Given the description of an element on the screen output the (x, y) to click on. 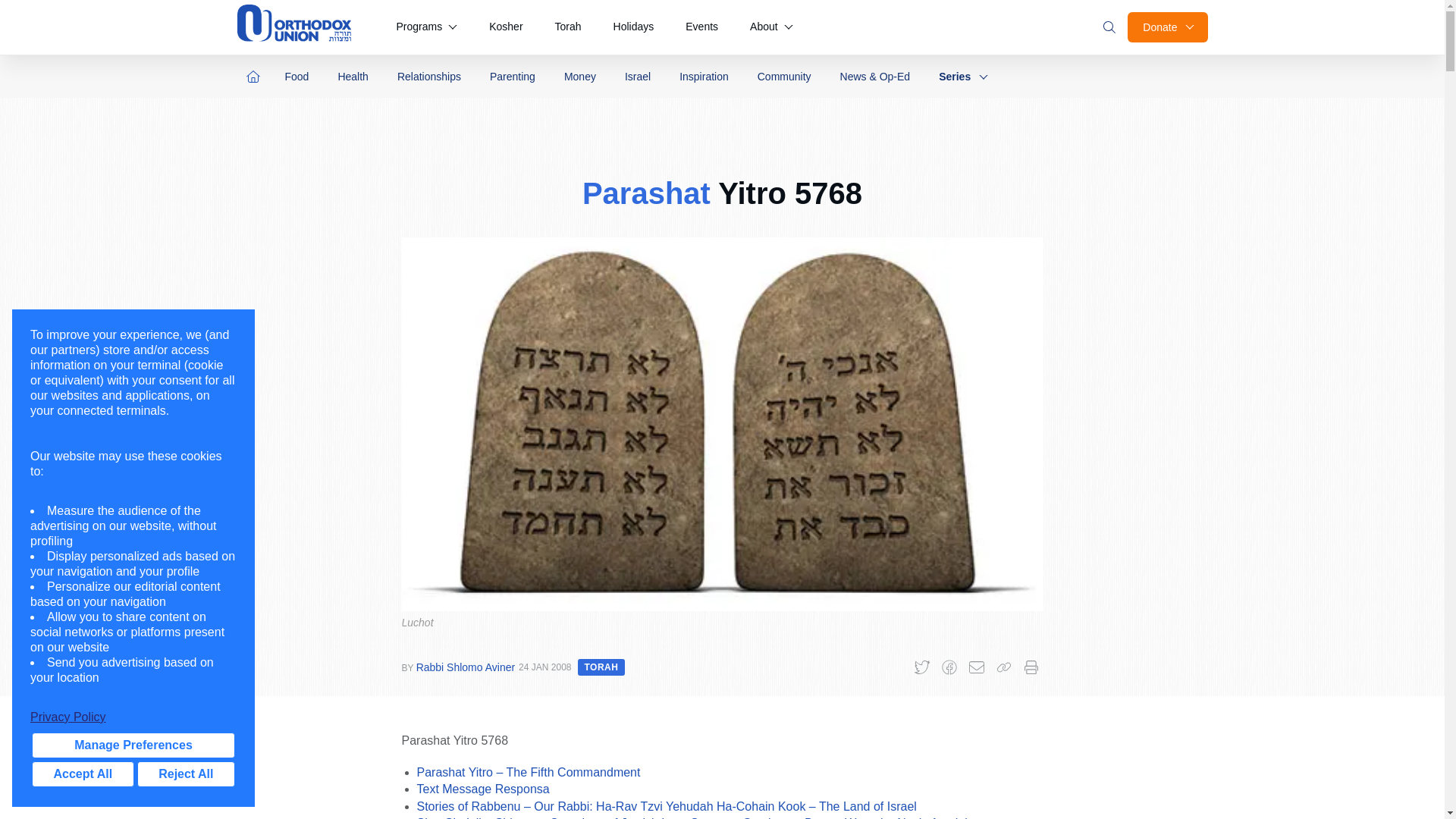
Events (701, 27)
Posts by Rabbi Shlomo Aviner (465, 666)
Accept All (82, 774)
Reject All (185, 774)
Holidays (633, 27)
Kosher (505, 27)
Programs (425, 27)
Privacy Policy (132, 717)
Torah (568, 27)
Manage Preferences (133, 745)
About (771, 27)
